Given the description of an element on the screen output the (x, y) to click on. 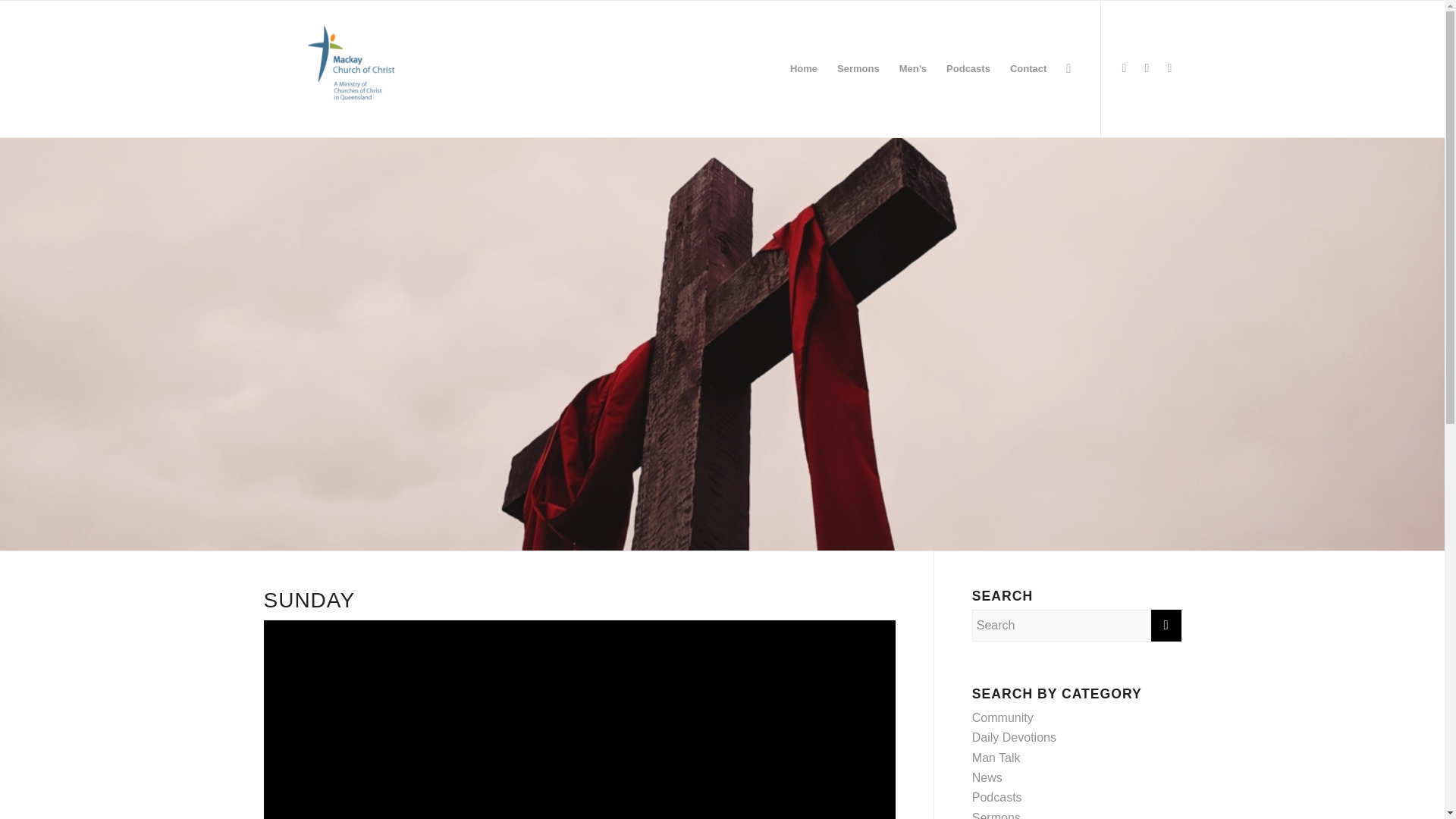
Facebook (1124, 67)
Podcasts (997, 797)
Community (1002, 717)
News (987, 777)
Instagram (1146, 67)
Daily Devotions (1014, 737)
Youtube (1169, 67)
Man Talk (996, 757)
Sermons (996, 815)
